Given the description of an element on the screen output the (x, y) to click on. 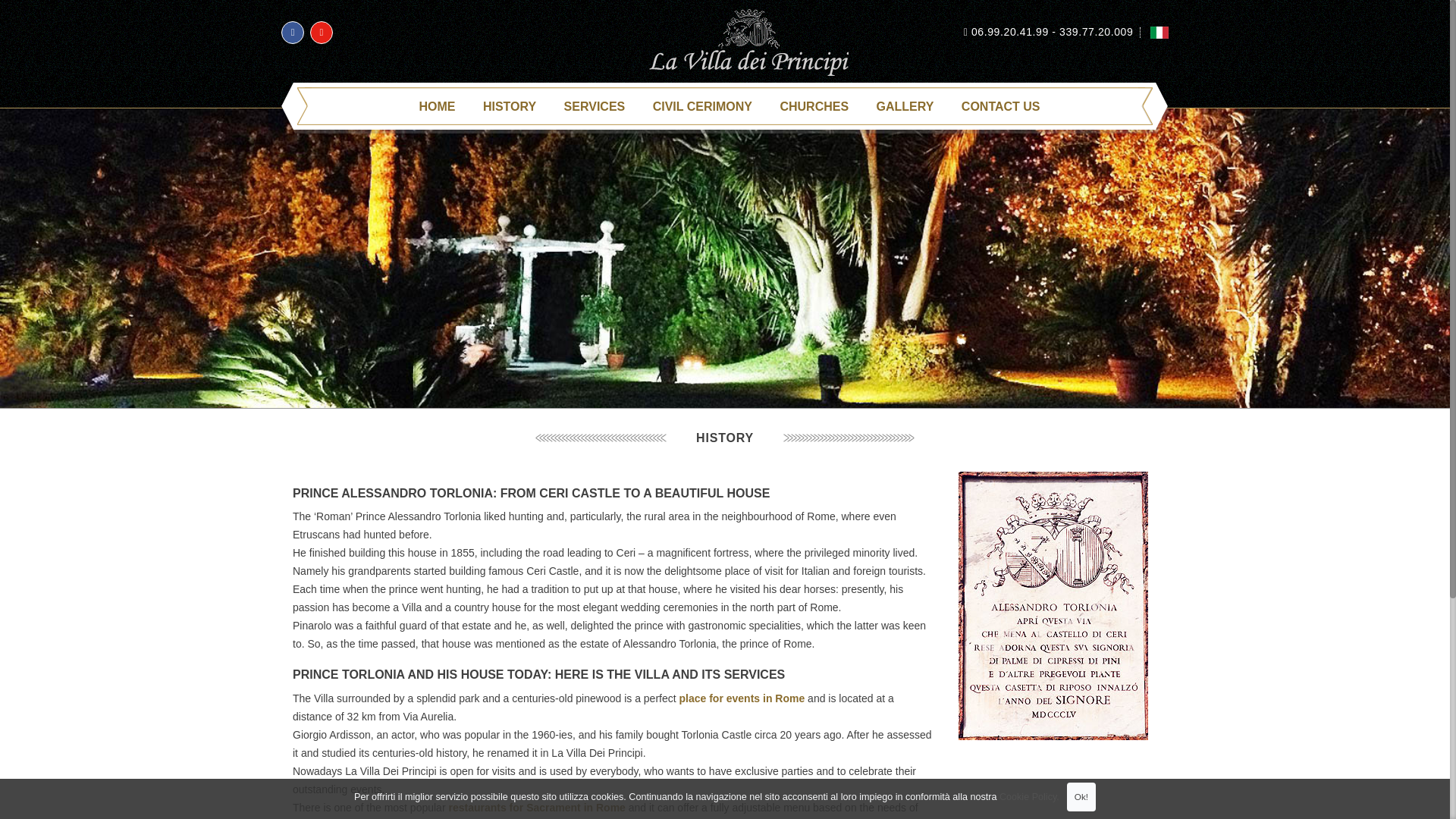
CHURCHES (813, 106)
HISTORY (509, 106)
HOME (436, 106)
GALLERY (905, 106)
SERVICES (595, 106)
CIVIL CERIMONY (702, 106)
Cookie Policy. (1028, 796)
place for events in Rome (742, 698)
CONTACT US (1000, 106)
restaurants for Sacrament in Rome (536, 807)
